Given the description of an element on the screen output the (x, y) to click on. 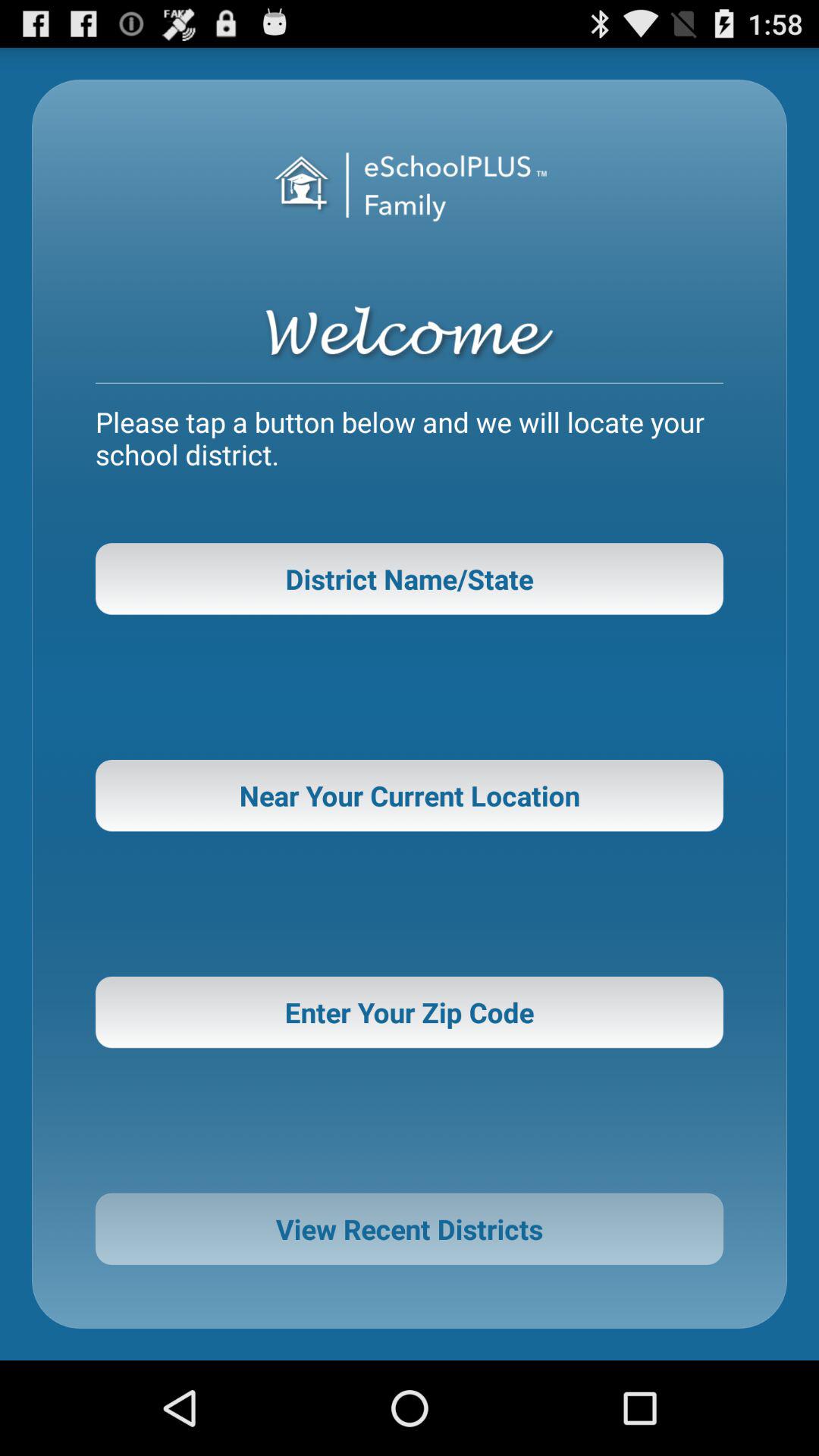
turn off the enter your zip (409, 1012)
